Given the description of an element on the screen output the (x, y) to click on. 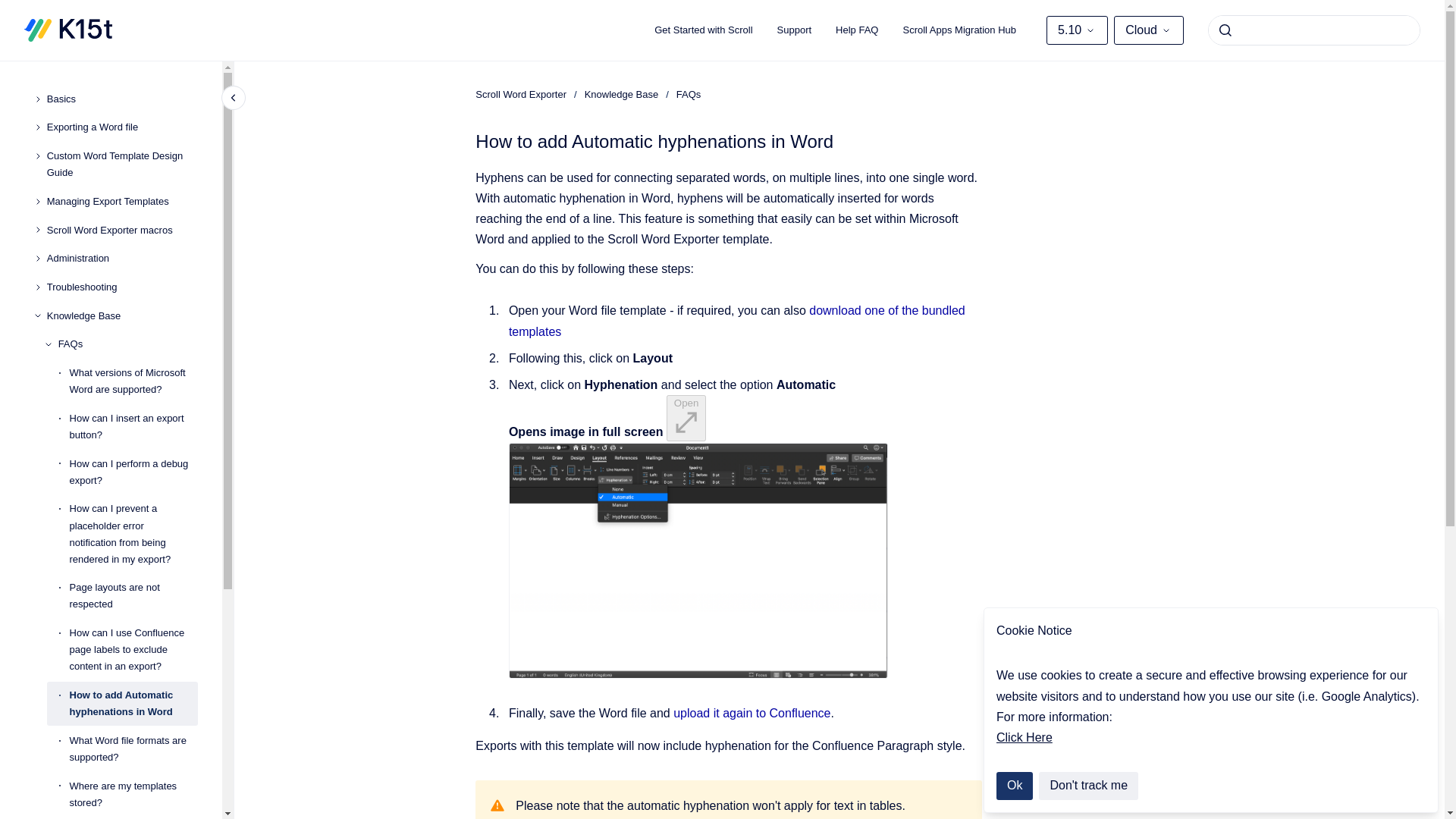
Custom Word Template Design Guide (122, 164)
How can I insert an export button? (133, 426)
How can I perform a debug export? (133, 472)
FAQs (128, 344)
Exporting a Word file (122, 127)
Managing Export Templates (122, 201)
What versions of Microsoft Word are supported? (133, 381)
Troubleshooting (122, 287)
Scroll Apps Migration Hub (958, 29)
